Given the description of an element on the screen output the (x, y) to click on. 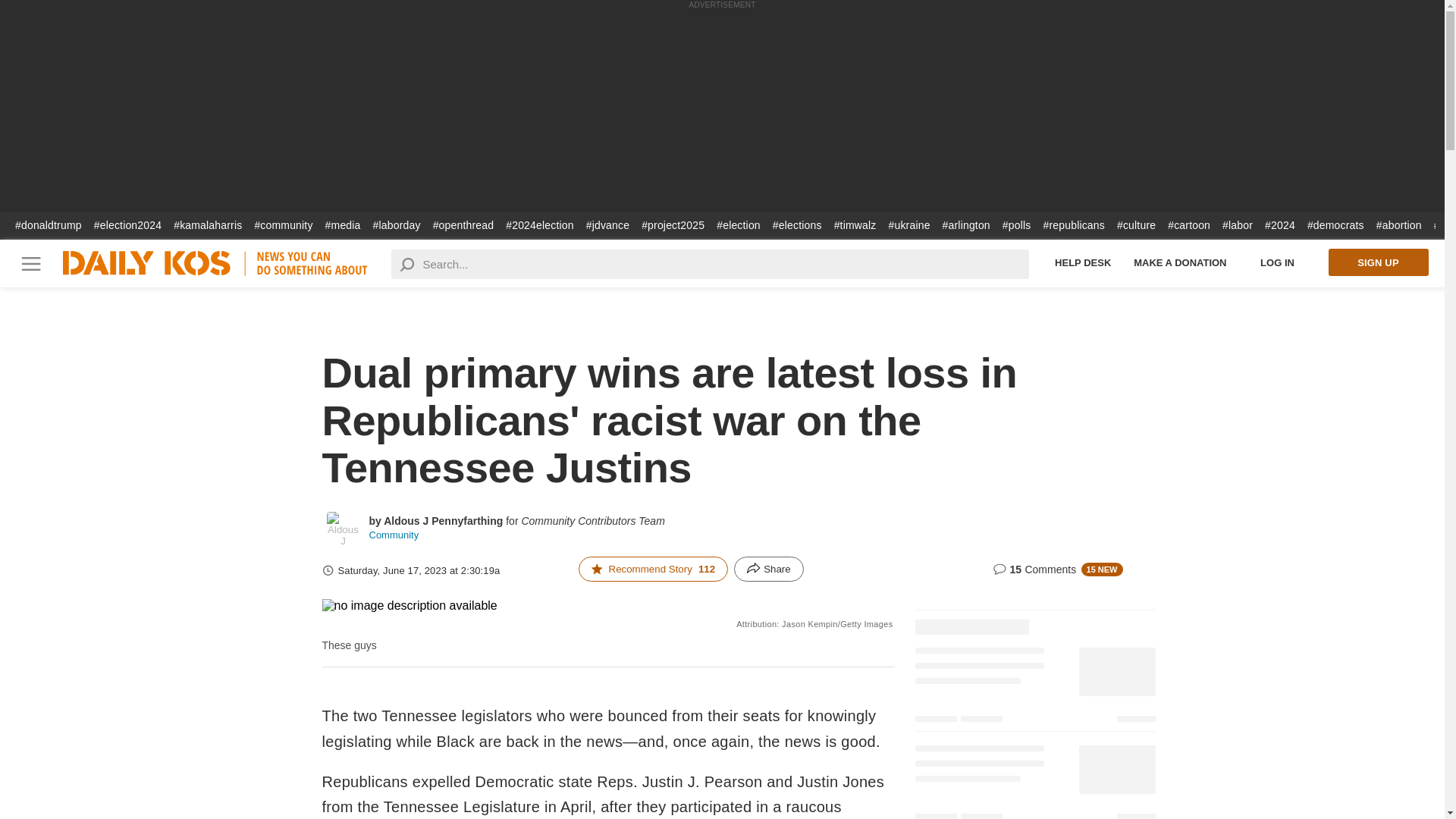
Loading... (1034, 778)
Loading... (1034, 686)
Make a Donation (1179, 262)
Help Desk (1082, 262)
MAKE A DONATION (1179, 262)
Loading... (1034, 617)
